Given the description of an element on the screen output the (x, y) to click on. 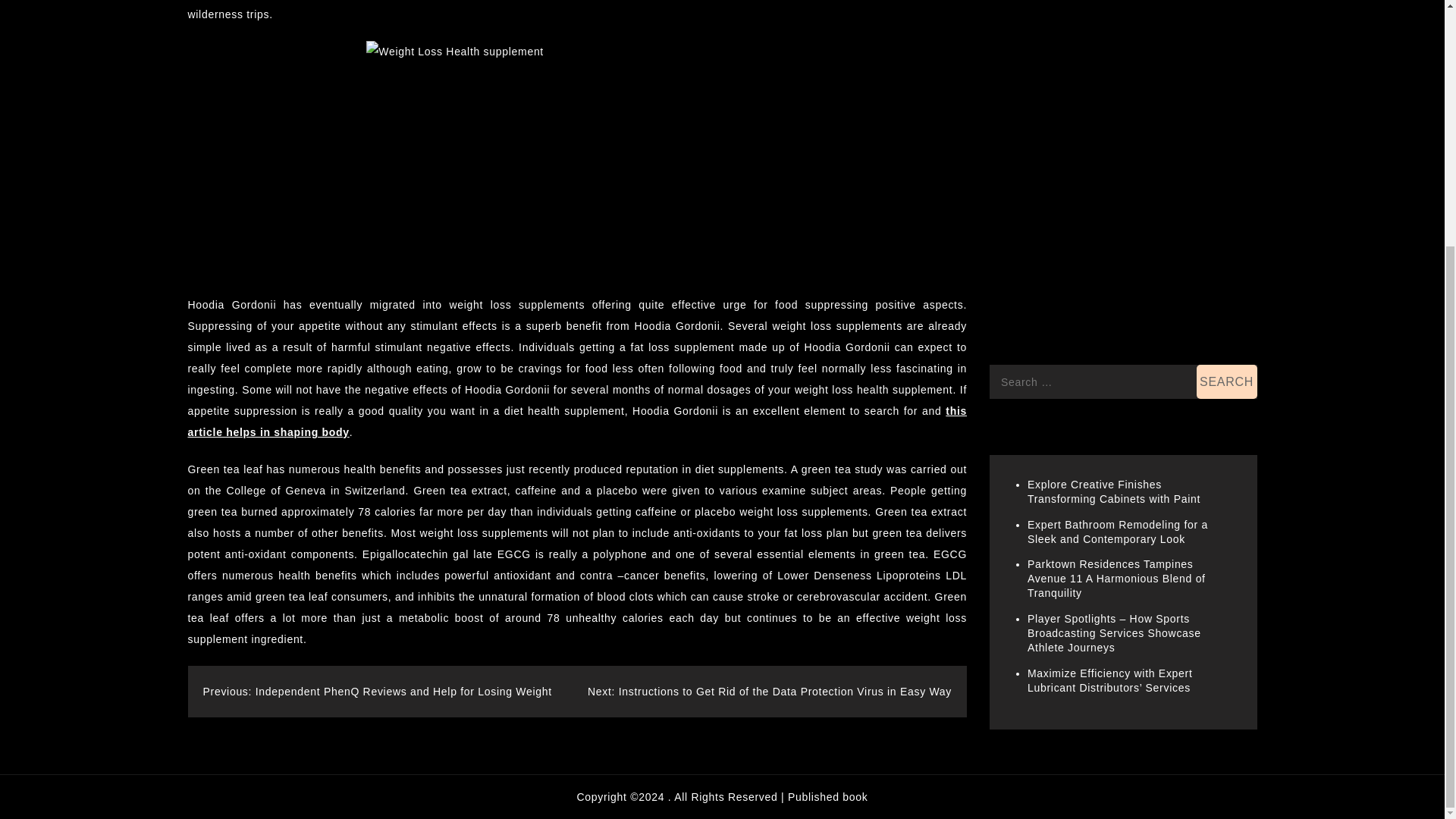
Search (1226, 219)
Explore Creative Finishes Transforming Cabinets with Paint (1113, 329)
Search (1226, 219)
Expert Bathroom Remodeling for a Sleek and Contemporary Look (1117, 369)
this article helps in shaping body (577, 421)
Search (1226, 219)
